Given the description of an element on the screen output the (x, y) to click on. 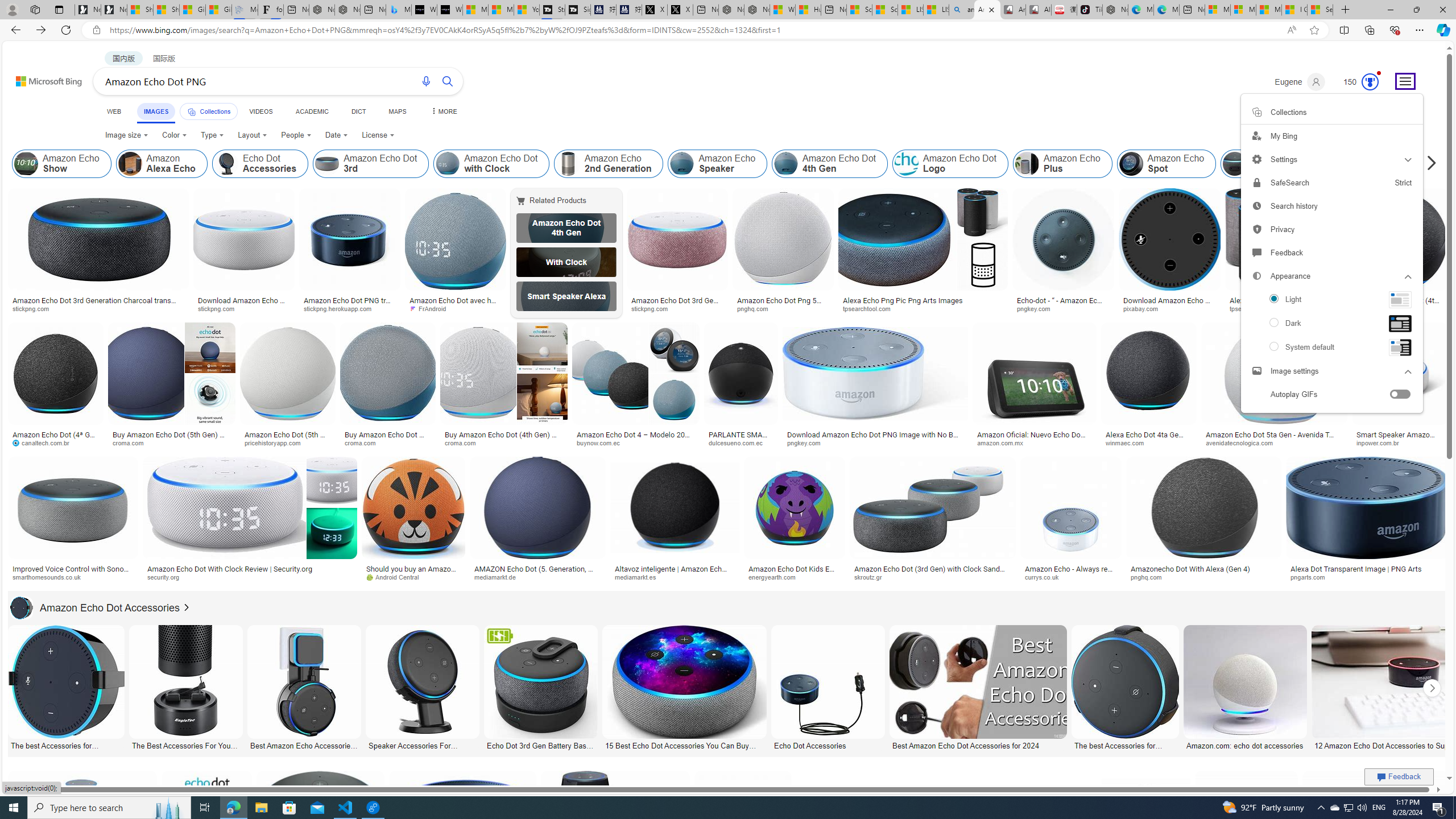
Settings and quick links (1331, 253)
Class: item col (1388, 163)
Amazon Echo Dot Kids Edition - 5th Generation (794, 572)
Color (173, 135)
stickpng.com (677, 308)
FrAndroid (455, 308)
